Given the description of an element on the screen output the (x, y) to click on. 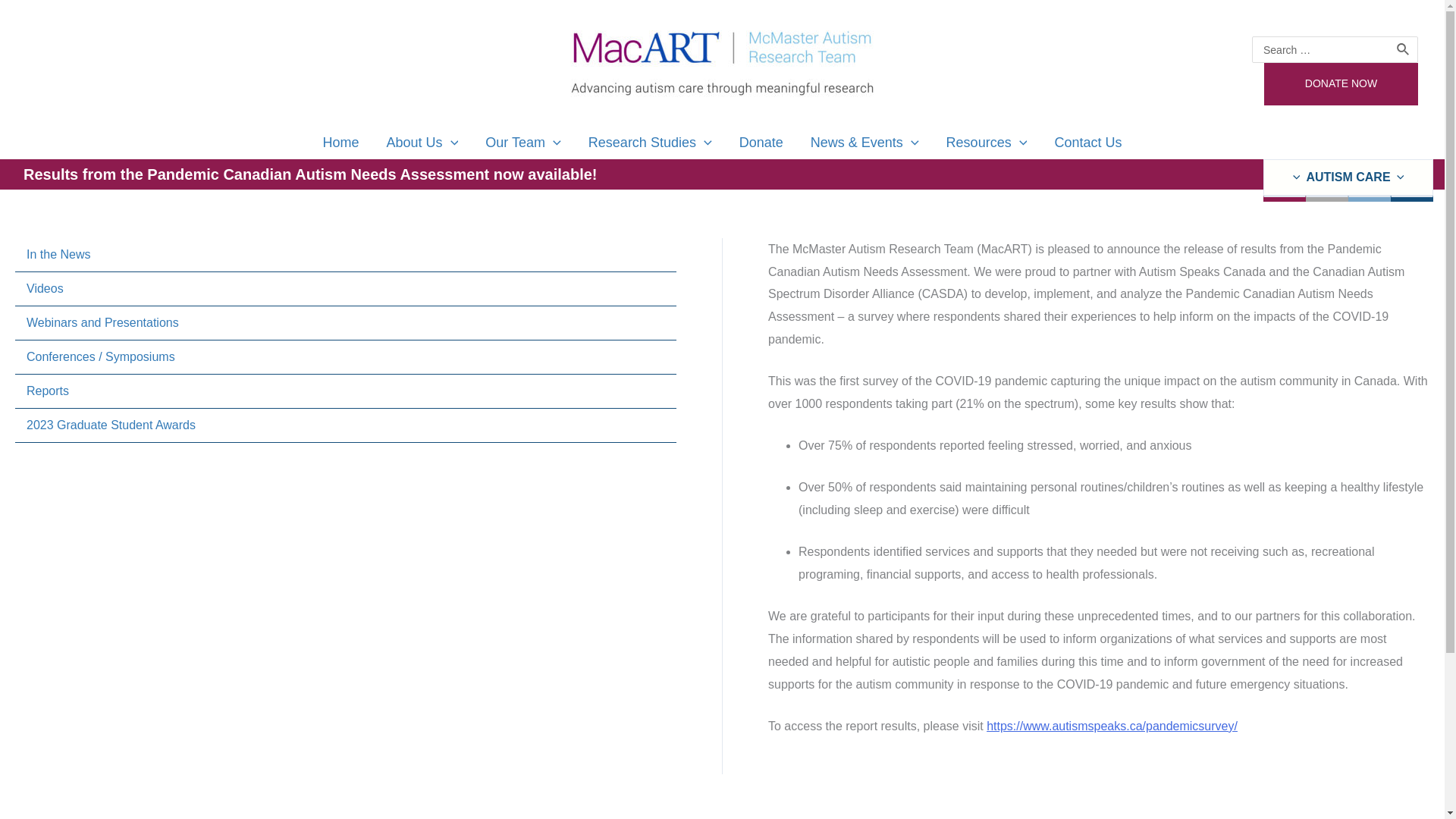
DONATE NOW (1340, 84)
Home (340, 142)
Our Team (523, 142)
Donate (760, 142)
Research Studies (650, 142)
About Us (421, 142)
Resources (987, 142)
